Given the description of an element on the screen output the (x, y) to click on. 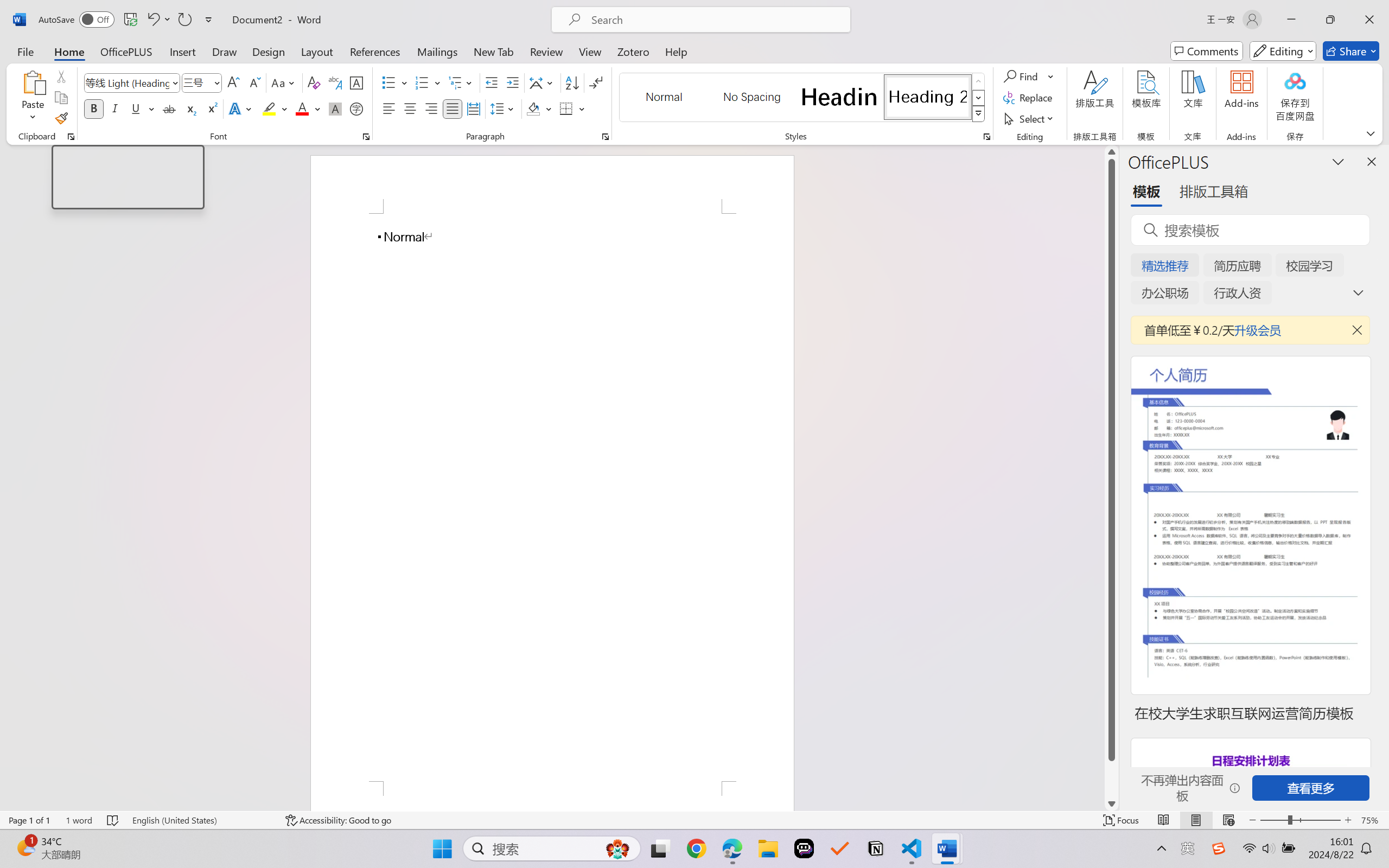
Character Shading (334, 108)
OfficePLUS (126, 51)
Character Border (356, 82)
Mode (1283, 50)
Zoom (1300, 819)
Print Layout (1196, 819)
Font Color Red (302, 108)
Find (1022, 75)
AutomationID: DynamicSearchBoxGleamImage (617, 848)
Shrink Font (253, 82)
Draw (224, 51)
Insert (182, 51)
Underline (135, 108)
Font Size (196, 82)
